Given the description of an element on the screen output the (x, y) to click on. 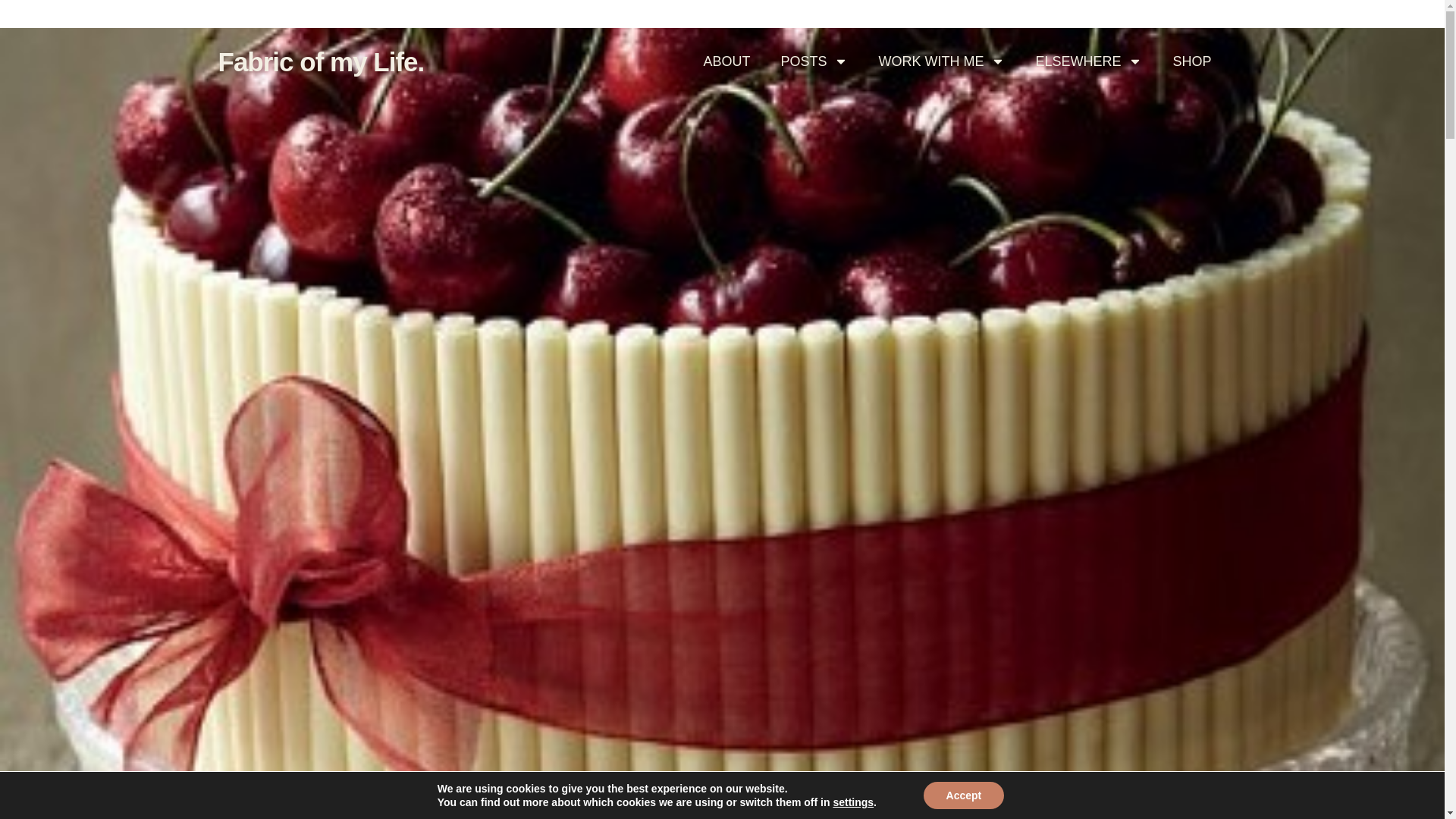
Fabric of my Life. (321, 61)
WORK WITH ME (941, 61)
ABOUT (726, 61)
POSTS (814, 61)
ELSEWHERE (1088, 61)
SHOP (1191, 61)
